Given the description of an element on the screen output the (x, y) to click on. 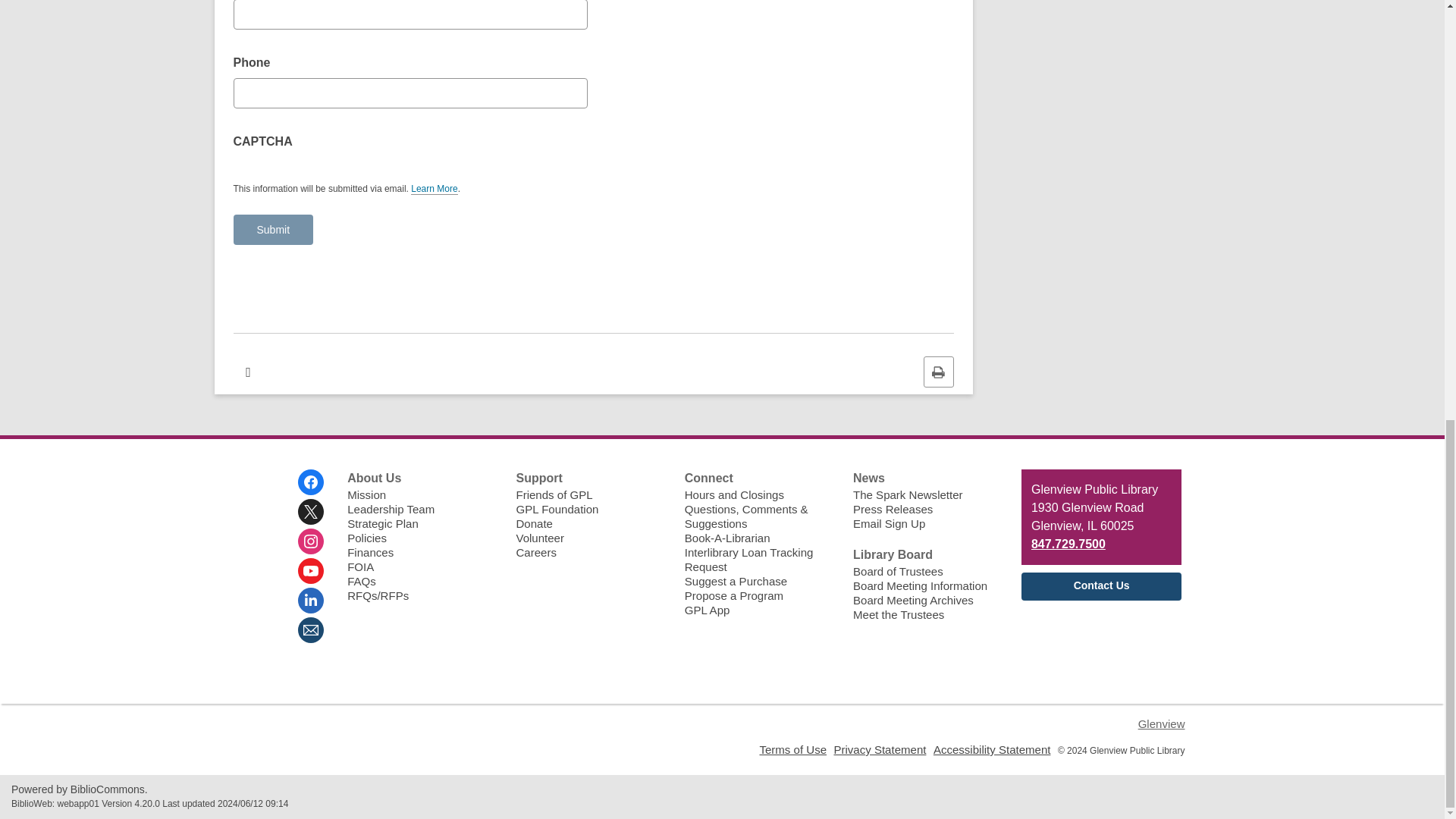
Submit (273, 229)
